Given the description of an element on the screen output the (x, y) to click on. 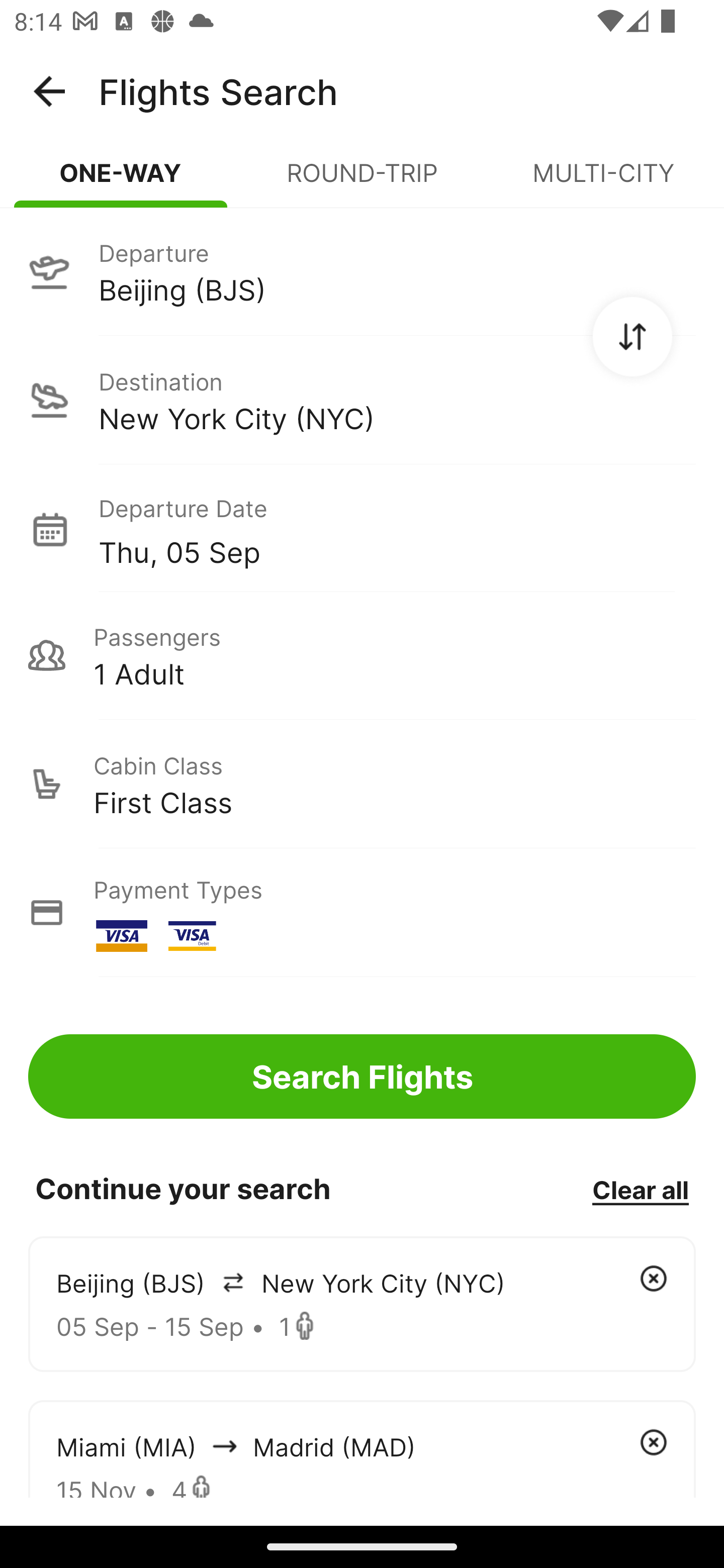
ONE-WAY (120, 180)
ROUND-TRIP (361, 180)
MULTI-CITY (603, 180)
Departure Beijing (BJS) (362, 270)
Destination New York City (NYC) (362, 400)
Departure Date Thu, 05 Sep (396, 528)
Passengers 1 Adult (362, 655)
Cabin Class First Class (362, 783)
Payment Types (362, 912)
Search Flights (361, 1075)
Clear all (640, 1189)
Miami (MIA)  arrowIcon  Madrid (MAD) 15 Nov •  4  (361, 1448)
